Given the description of an element on the screen output the (x, y) to click on. 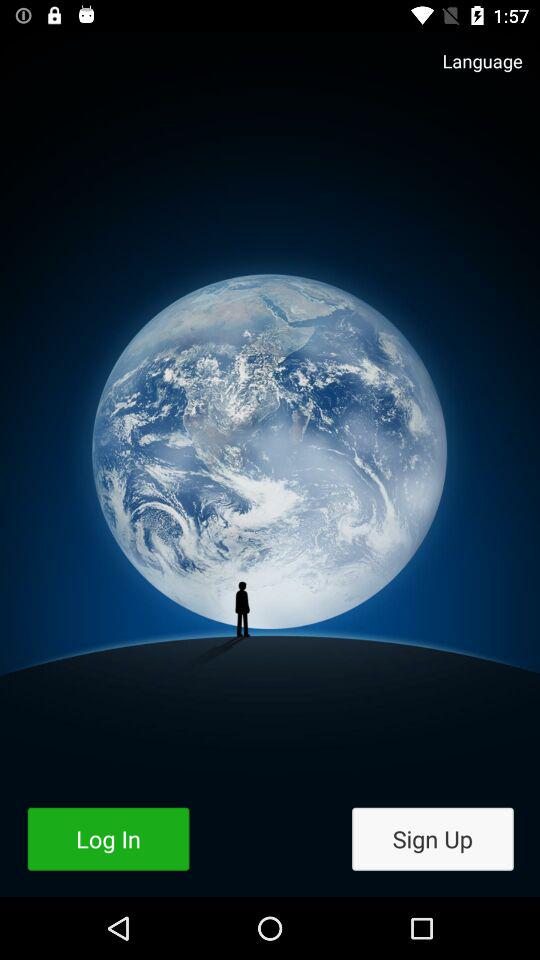
press app at the top right corner (472, 70)
